Given the description of an element on the screen output the (x, y) to click on. 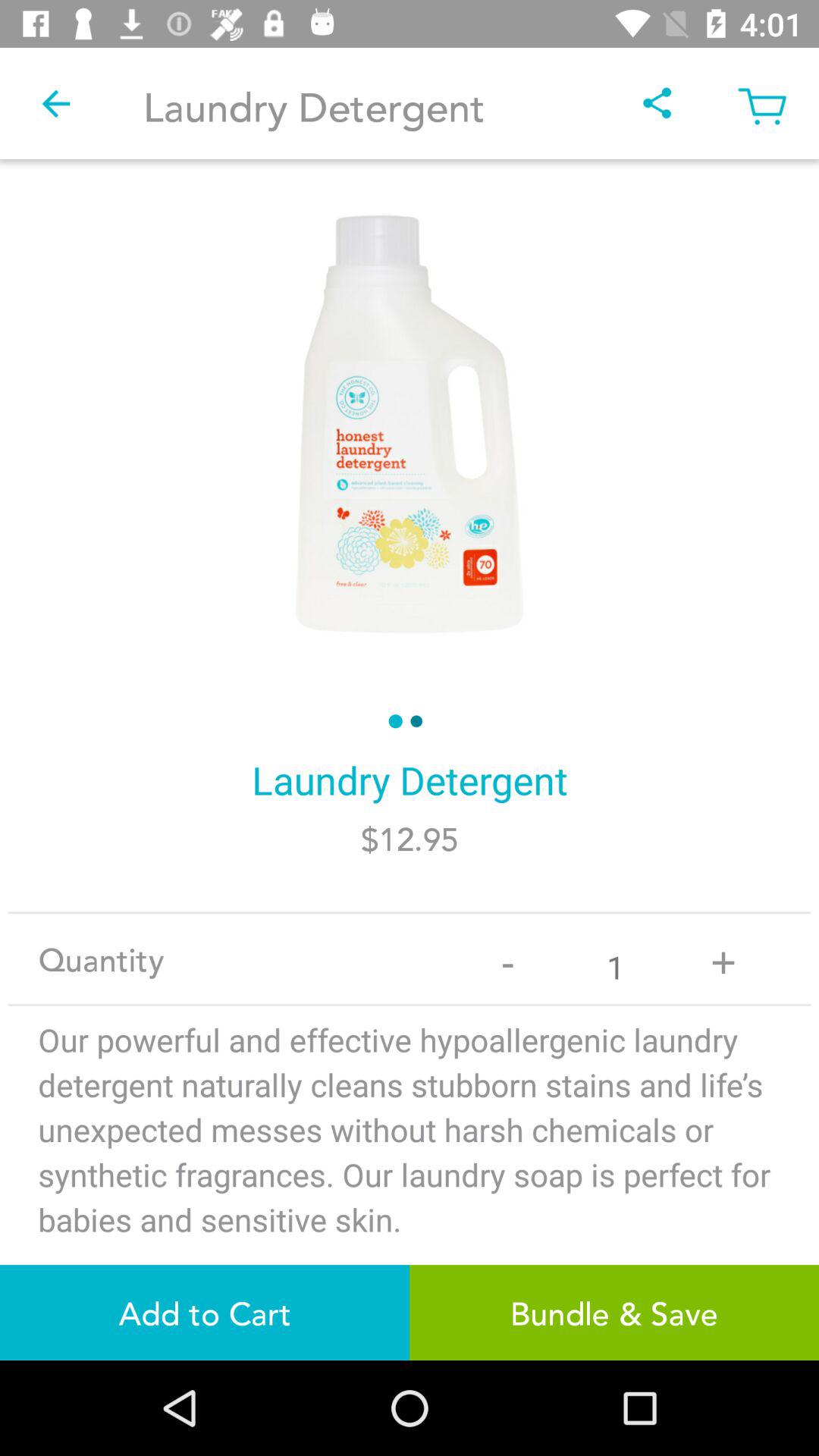
press icon next to the 1 app (723, 958)
